Given the description of an element on the screen output the (x, y) to click on. 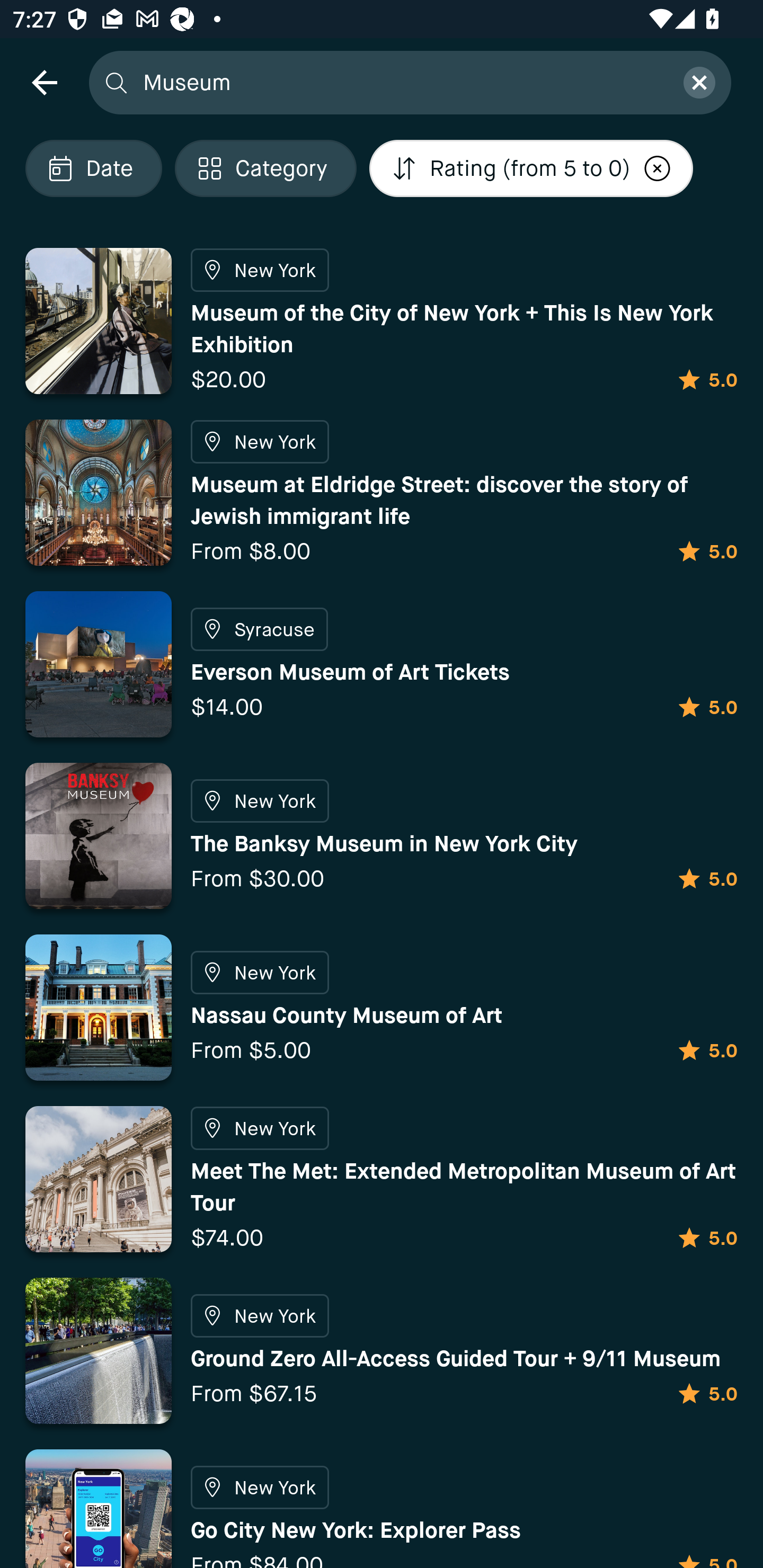
navigation icon (44, 81)
Museum (402, 81)
Localized description Date (93, 168)
Localized description Category (265, 168)
Localized description (657, 168)
